Given the description of an element on the screen output the (x, y) to click on. 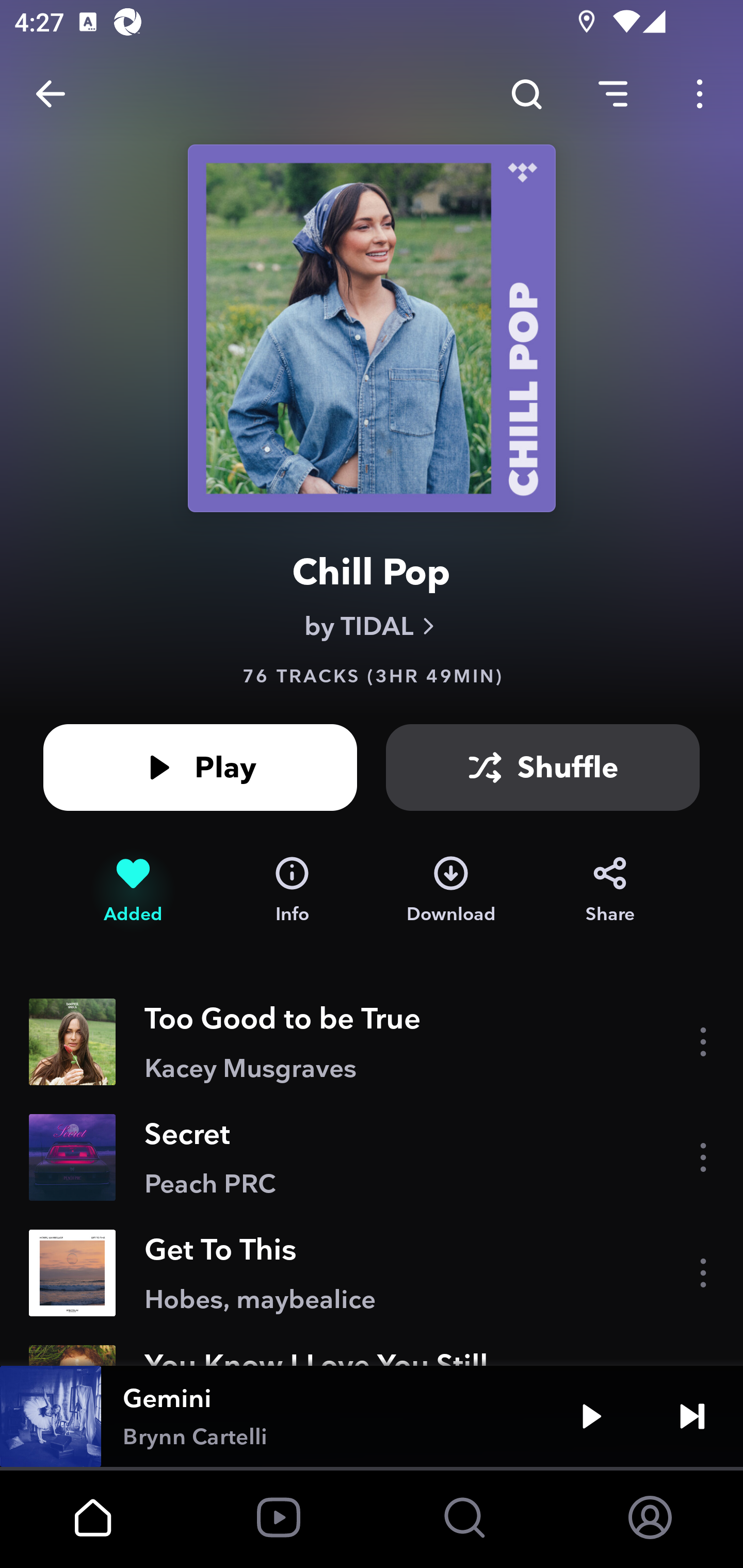
Back (50, 93)
Search (525, 93)
Sorting (612, 93)
Options (699, 93)
by TIDAL (371, 625)
Play (200, 767)
Shuffle (542, 767)
Added (132, 890)
Info (291, 890)
Download (450, 890)
Share (609, 890)
Too Good to be True Kacey Musgraves (371, 1041)
Secret Peach PRC (371, 1157)
Get To This Hobes, maybealice (371, 1273)
Gemini Brynn Cartelli Play (371, 1416)
Play (590, 1416)
